Given the description of an element on the screen output the (x, y) to click on. 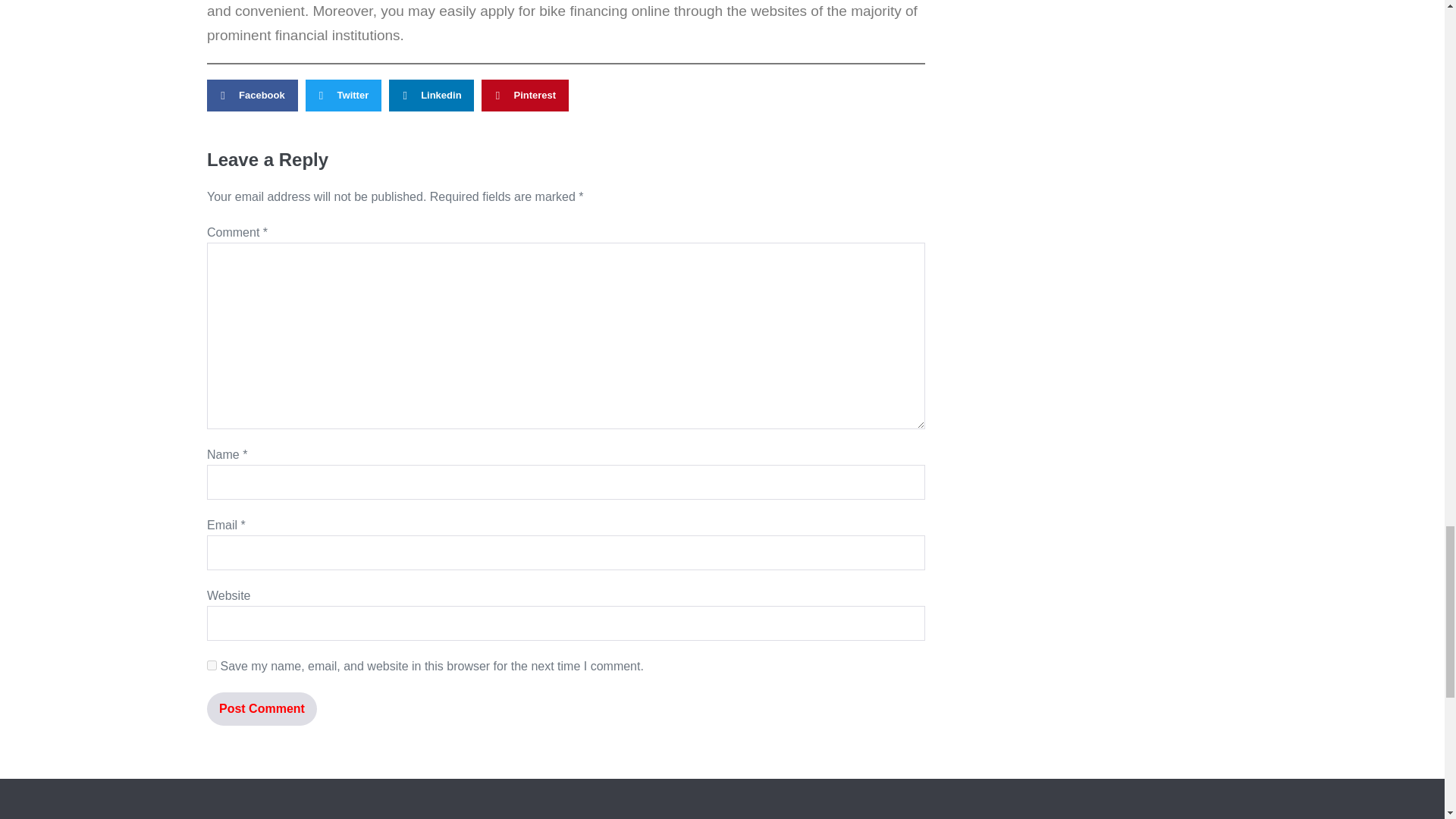
yes (211, 665)
Post Comment (261, 708)
Post Comment (261, 708)
